Given the description of an element on the screen output the (x, y) to click on. 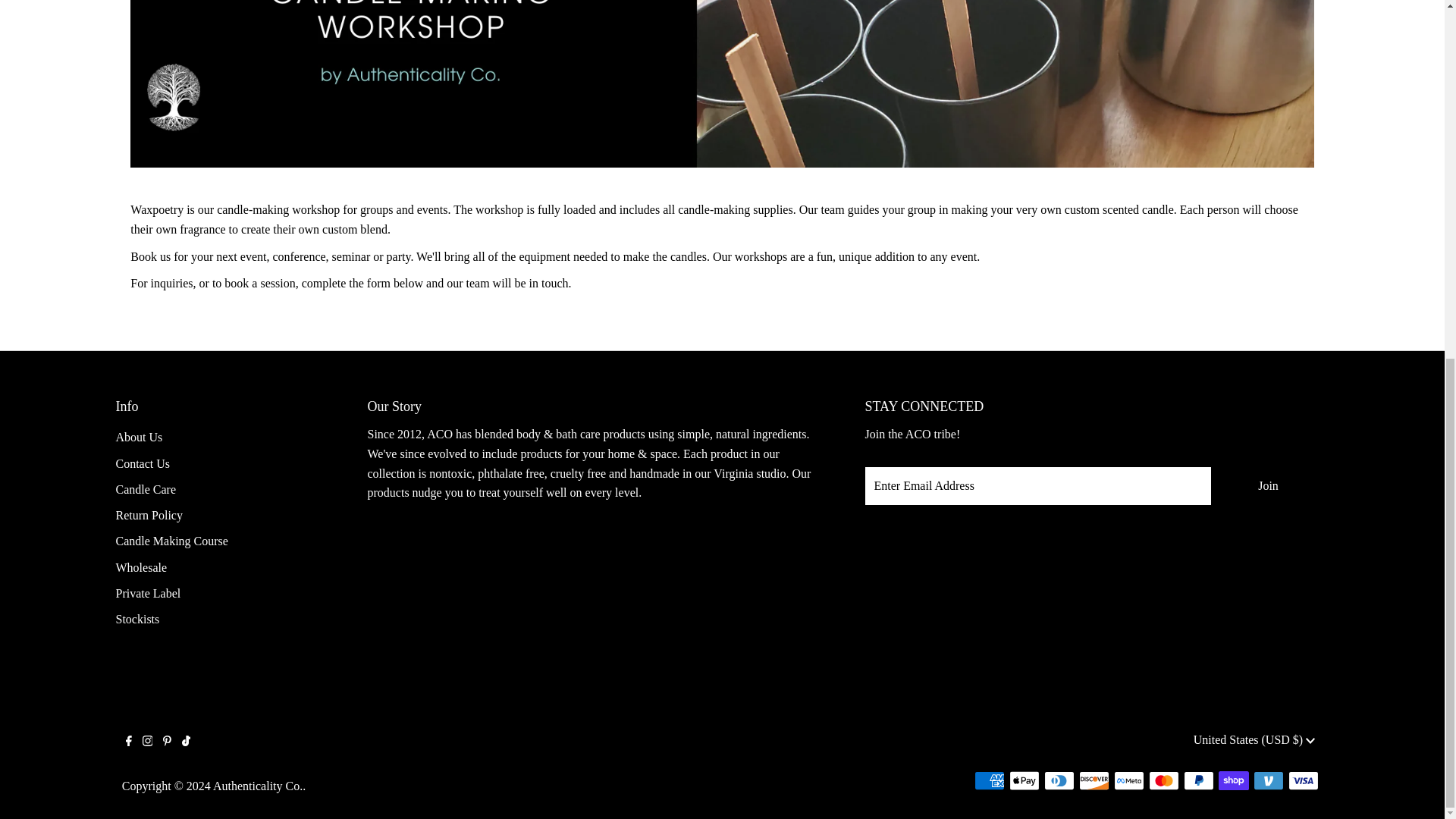
Mastercard (1163, 780)
Meta Pay (1128, 780)
PayPal (1198, 780)
Join (1266, 485)
American Express (989, 780)
Discover (1093, 780)
Diners Club (1058, 780)
Apple Pay (1024, 780)
